Given the description of an element on the screen output the (x, y) to click on. 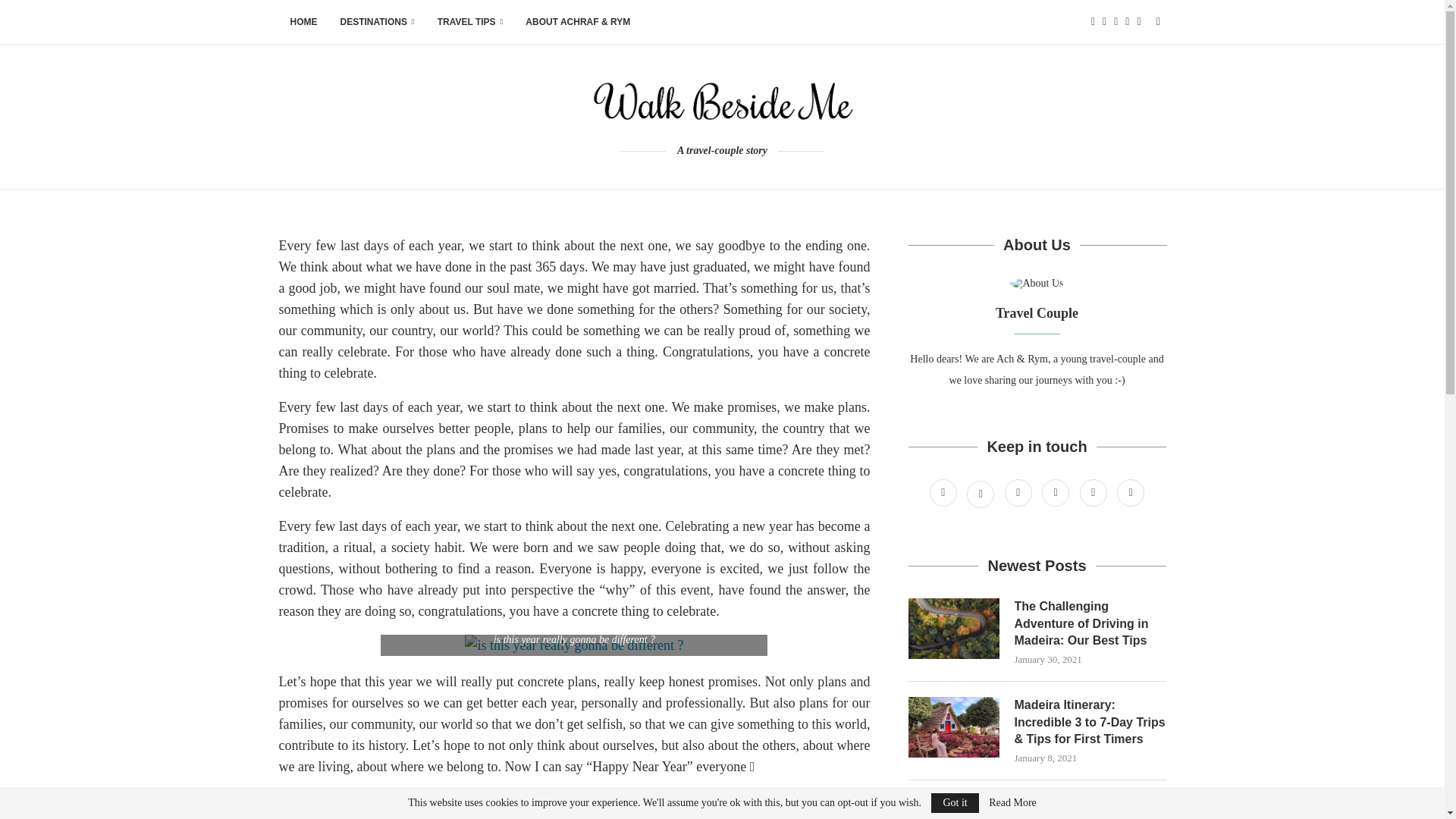
TRAVEL TIPS (470, 22)
DESTINATIONS (377, 22)
HOME (304, 22)
